Given the description of an element on the screen output the (x, y) to click on. 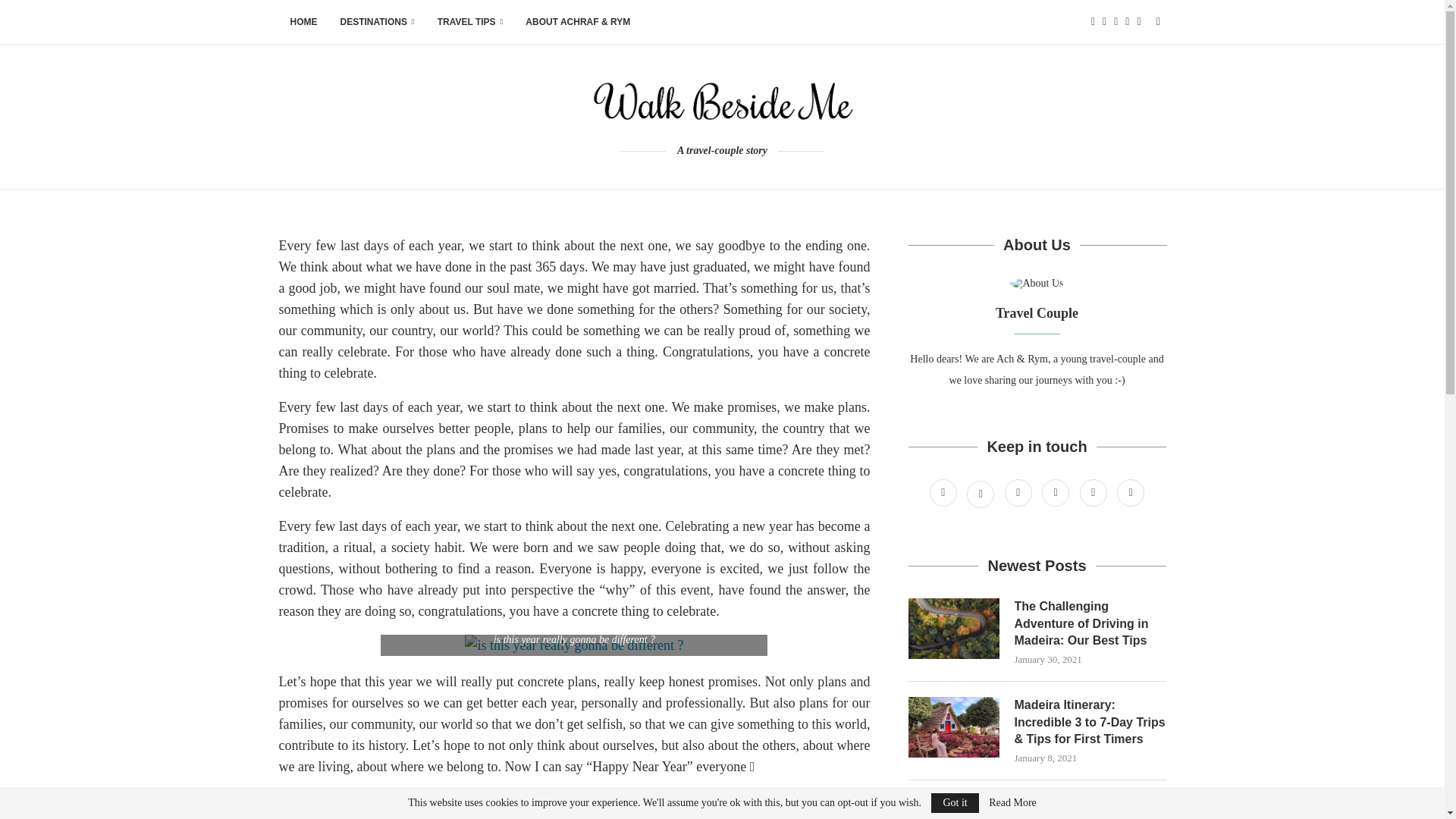
TRAVEL TIPS (470, 22)
DESTINATIONS (377, 22)
HOME (304, 22)
